Given the description of an element on the screen output the (x, y) to click on. 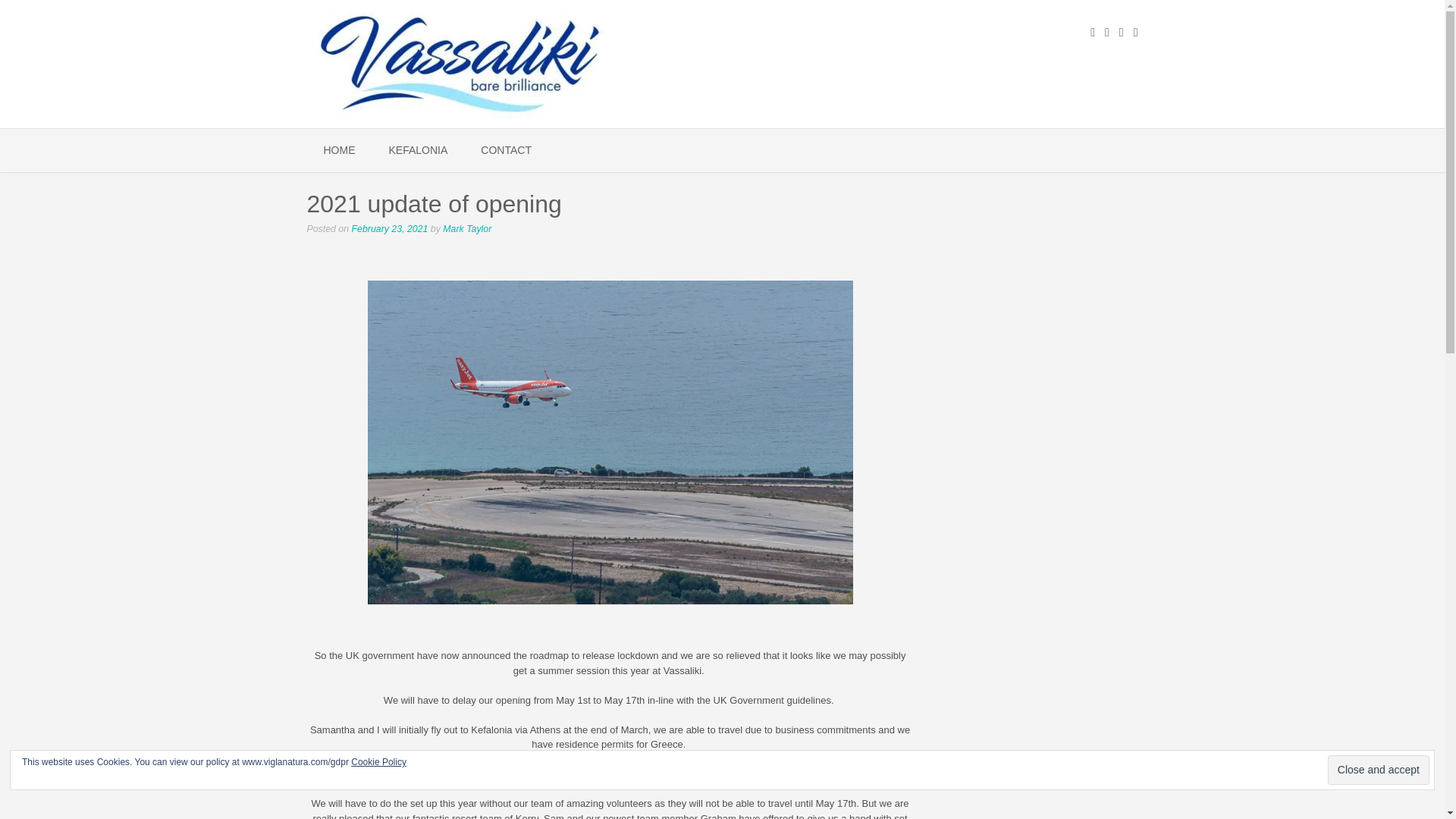
Close and accept (1378, 769)
KEFALONIA (417, 149)
HOME (338, 149)
Close and accept (1378, 769)
Vigla Natura Homepage (338, 149)
Mark Taylor (467, 228)
Contact Us (506, 149)
CONTACT (506, 149)
Cookie Policy (378, 761)
February 23, 2021 (390, 228)
